Given the description of an element on the screen output the (x, y) to click on. 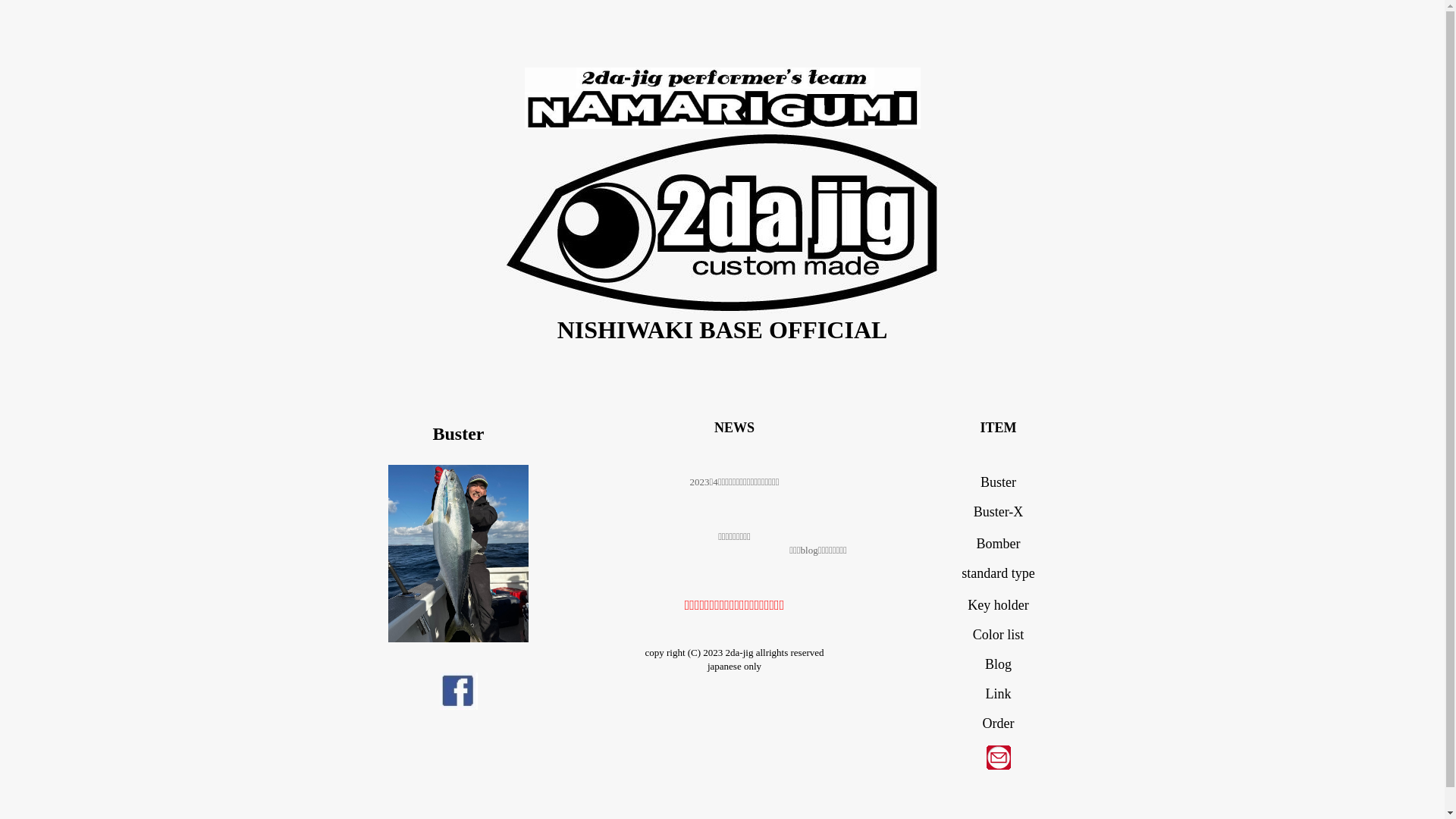
Color list Element type: text (998, 634)
Key holder Element type: text (997, 604)
Blog Element type: text (998, 664)
standard type Element type: text (997, 572)
Buster Element type: text (998, 481)
Order Element type: text (998, 723)
Buster-X Element type: text (998, 511)
Bomber Element type: text (998, 543)
Link Element type: text (998, 693)
